Given the description of an element on the screen output the (x, y) to click on. 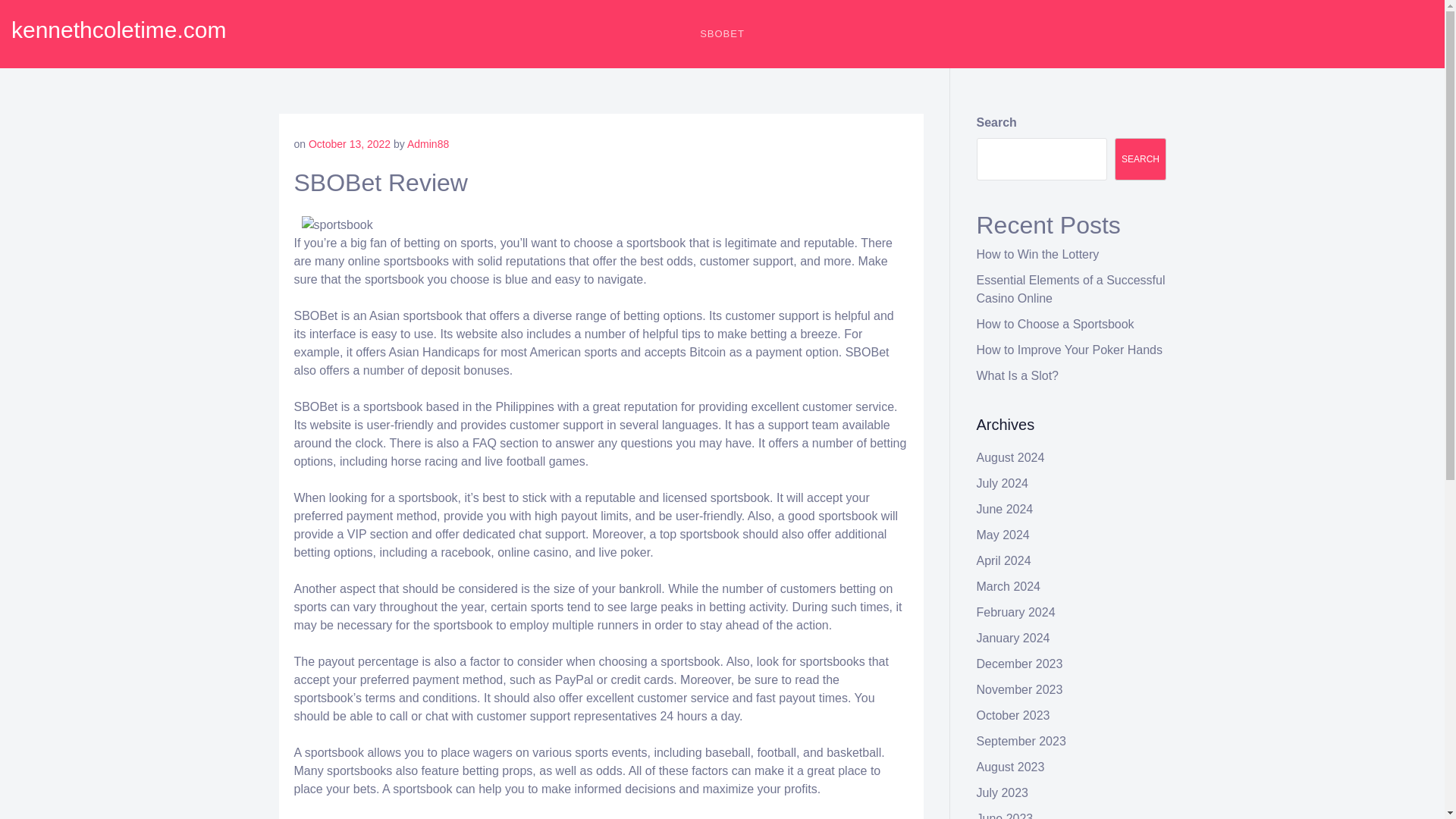
Essential Elements of a Successful Casino Online (1071, 288)
December 2023 (1019, 663)
kennethcoletime.com (118, 29)
August 2024 (1010, 457)
May 2024 (1002, 534)
How to Choose a Sportsbook (1055, 323)
August 2023 (1010, 766)
October 2023 (1012, 715)
November 2023 (1019, 689)
March 2024 (1008, 585)
